Given the description of an element on the screen output the (x, y) to click on. 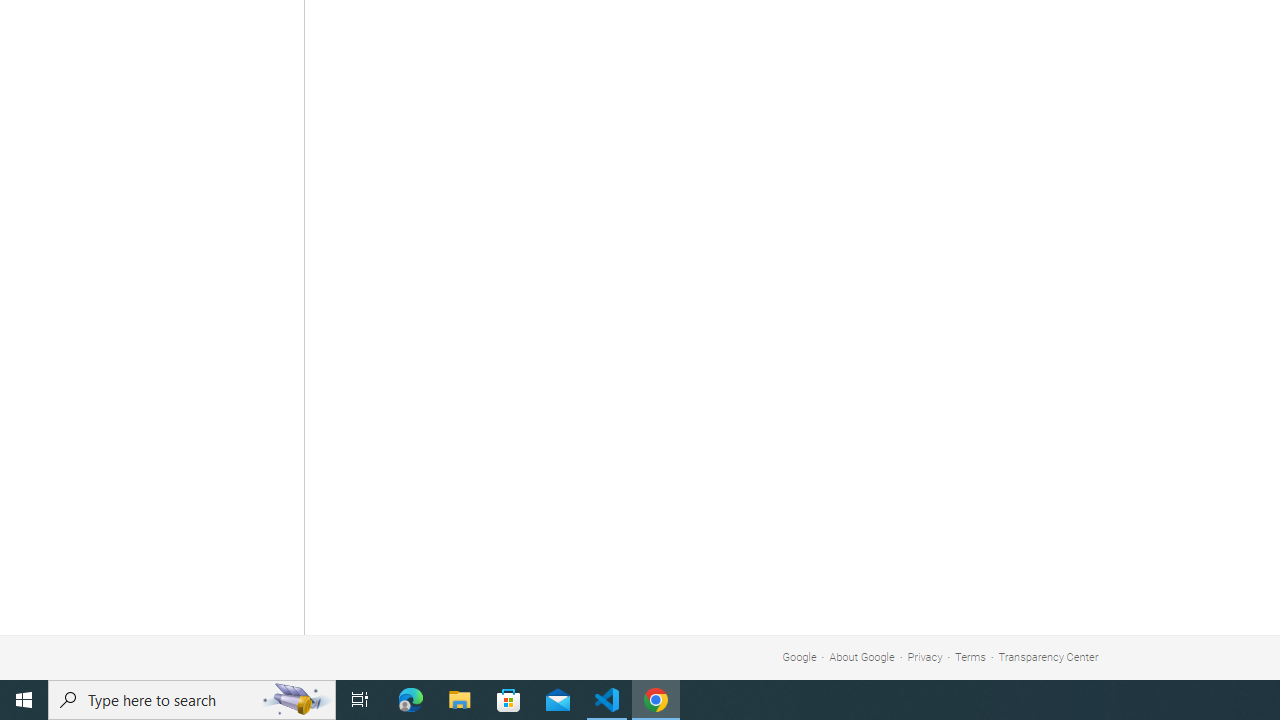
Transparency Center (1048, 656)
Privacy (925, 656)
Terms (969, 656)
About Google (861, 656)
Google (799, 656)
